Given the description of an element on the screen output the (x, y) to click on. 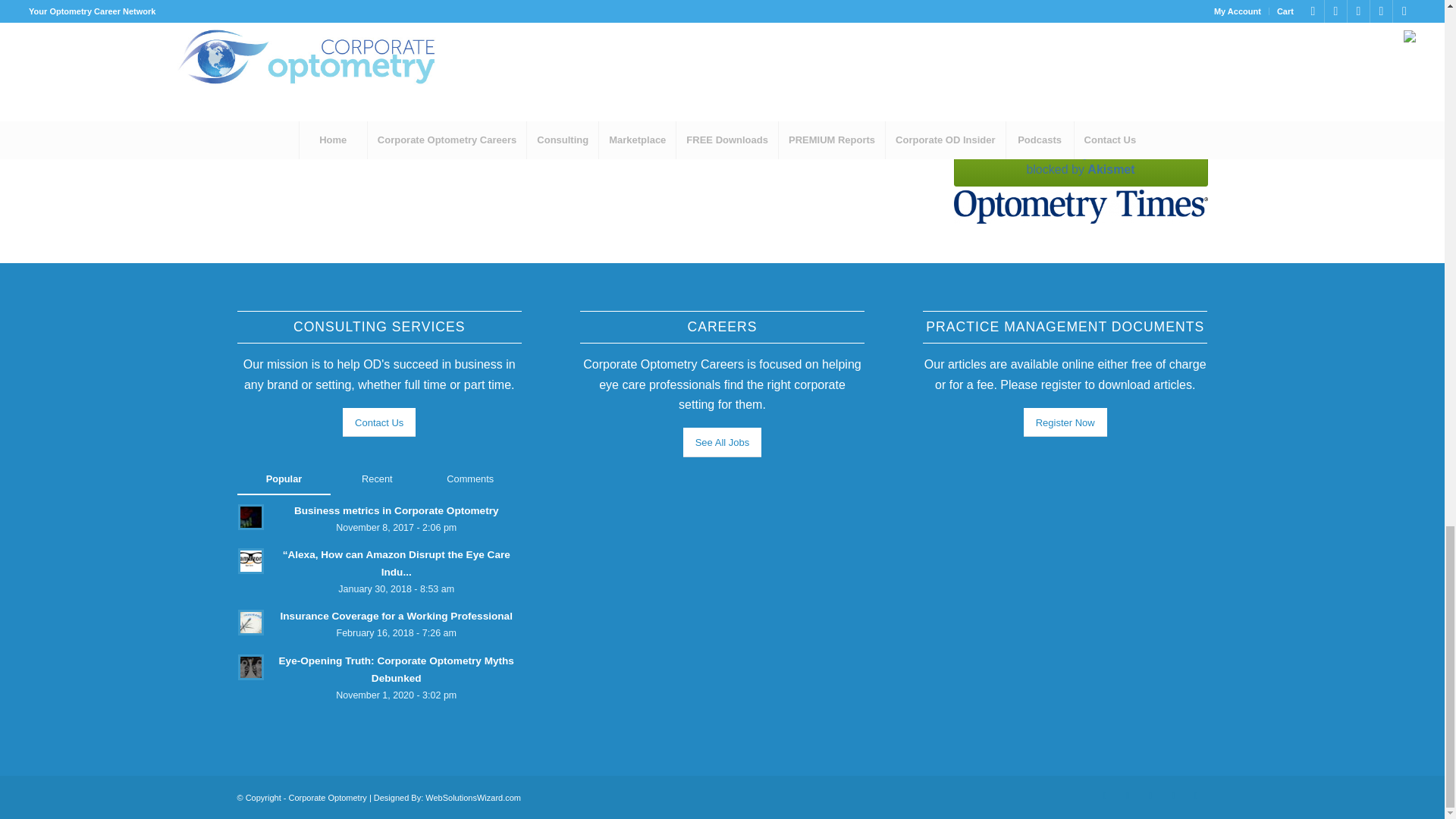
Business metrics in Corporate Optometry (378, 518)
